Given the description of an element on the screen output the (x, y) to click on. 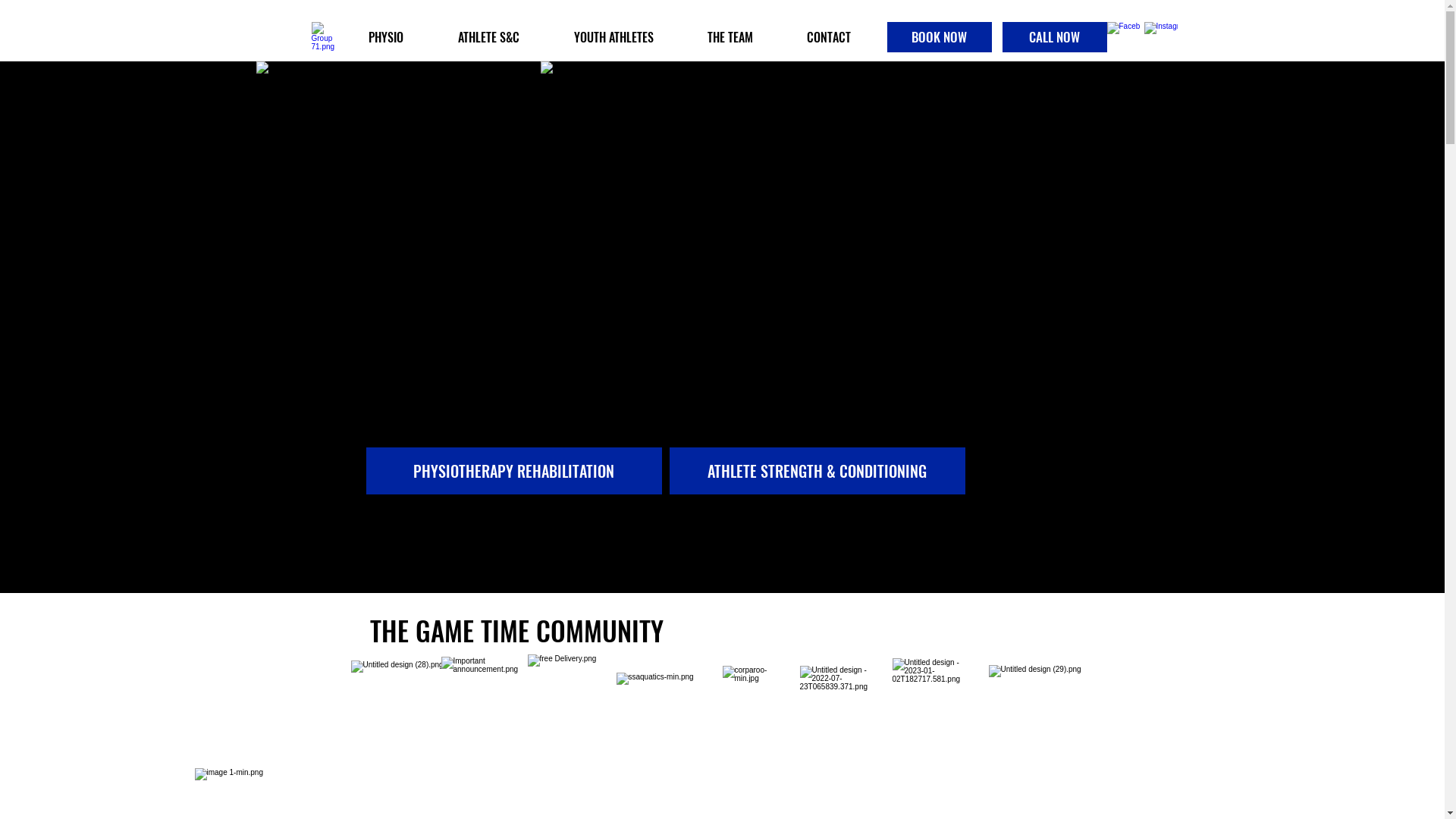
ATHLETE STRENGTH & CONDITIONING Element type: text (816, 470)
CONTACT Element type: text (828, 37)
CALL NOW Element type: text (1054, 36)
YOUTH ATHLETES Element type: text (613, 37)
PHYSIO Element type: text (385, 37)
PHYSIOTHERAPY REHABILITATION Element type: text (513, 470)
BOOK NOW Element type: text (939, 36)
Untitled design - 2022-10-04T094254.376. Element type: hover (721, 288)
ATHLETE S&C Element type: text (488, 37)
THE TEAM Element type: text (730, 37)
